Given the description of an element on the screen output the (x, y) to click on. 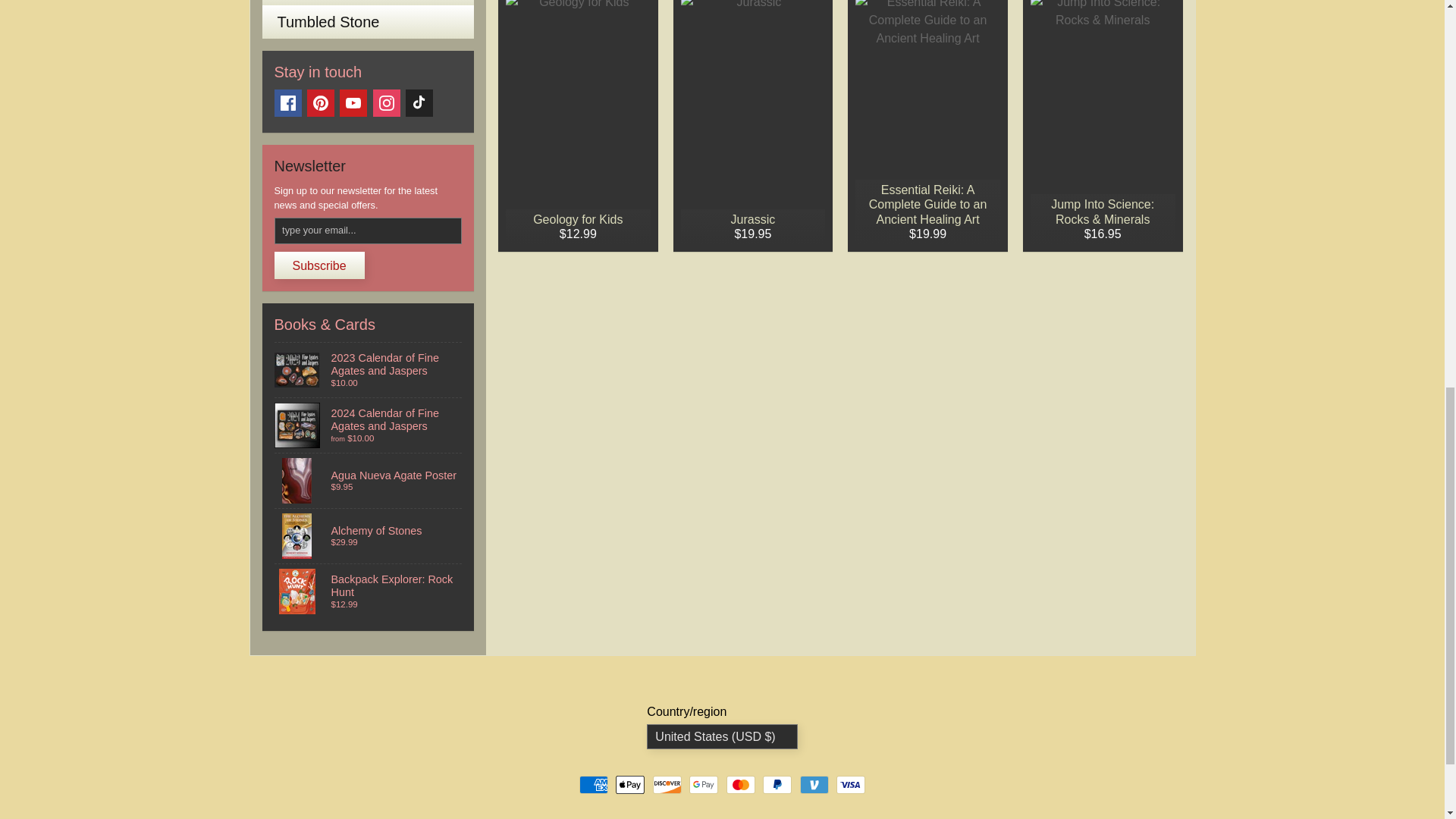
Alchemy of Stones (369, 535)
Venmo (813, 784)
Facebook (288, 103)
Pinterest (320, 103)
TikTok (419, 103)
Apple Pay (630, 784)
2024 Calendar of Fine Agates and Jaspers (369, 425)
Visa (849, 784)
Discover (666, 784)
Mastercard (740, 784)
